Given the description of an element on the screen output the (x, y) to click on. 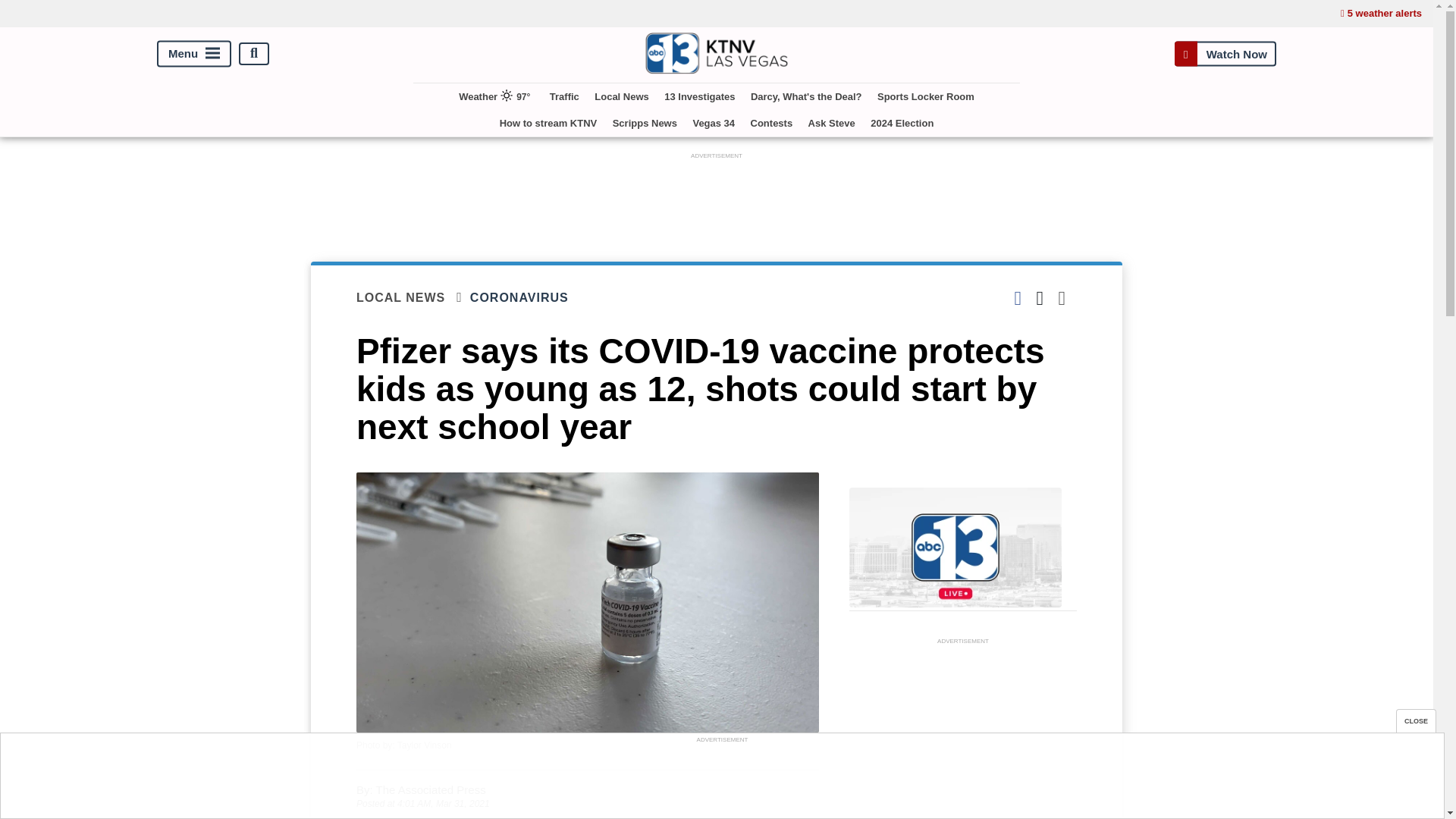
Menu (194, 53)
Watch Now (1224, 52)
3rd party ad content (716, 196)
3rd party ad content (721, 780)
3rd party ad content (962, 733)
